Given the description of an element on the screen output the (x, y) to click on. 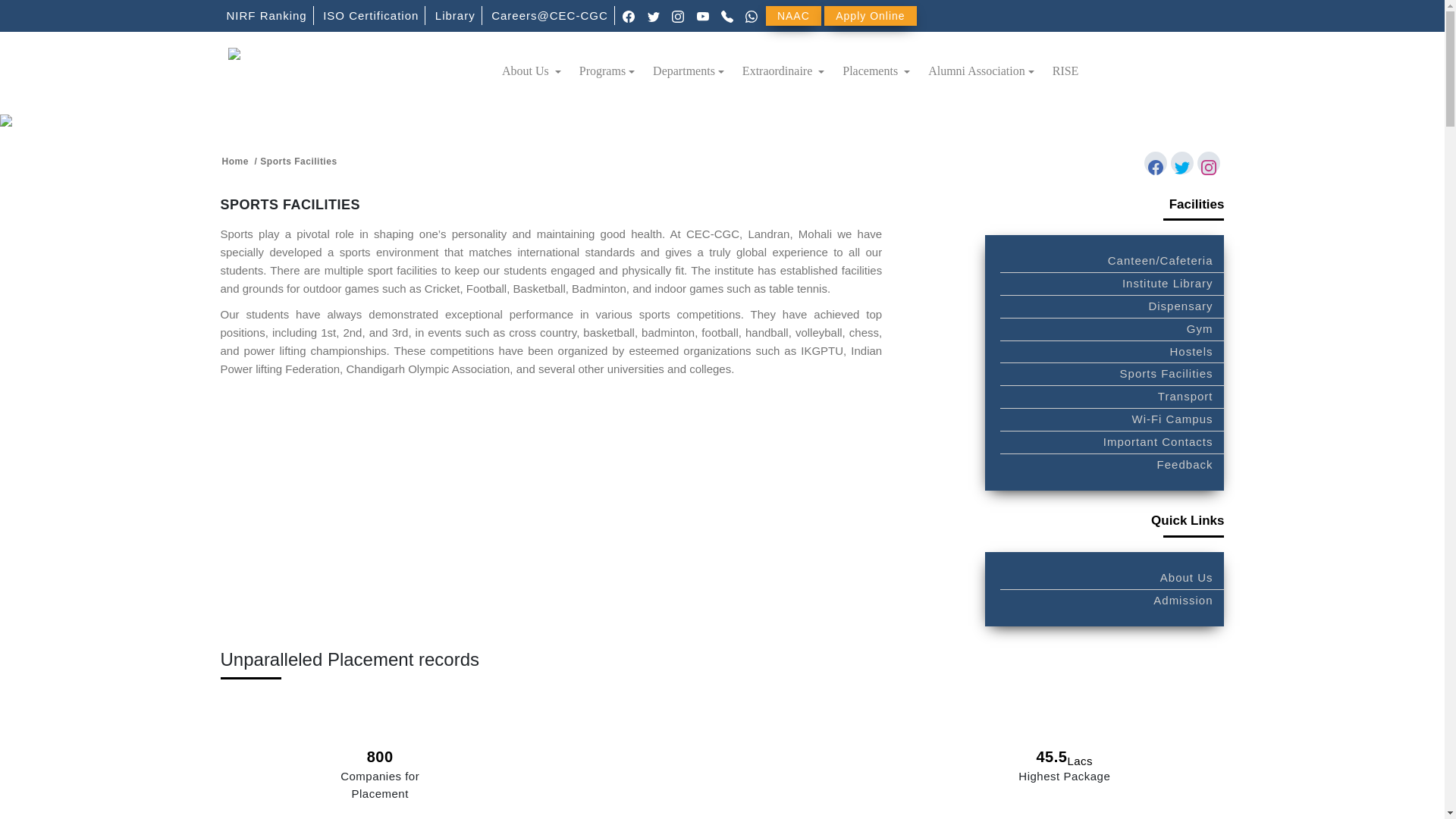
NIRF Ranking (265, 15)
NAAC (793, 15)
Apply Online (869, 15)
Programs (606, 71)
Library (455, 15)
About Us (531, 71)
ISO Certification (371, 15)
